Given the description of an element on the screen output the (x, y) to click on. 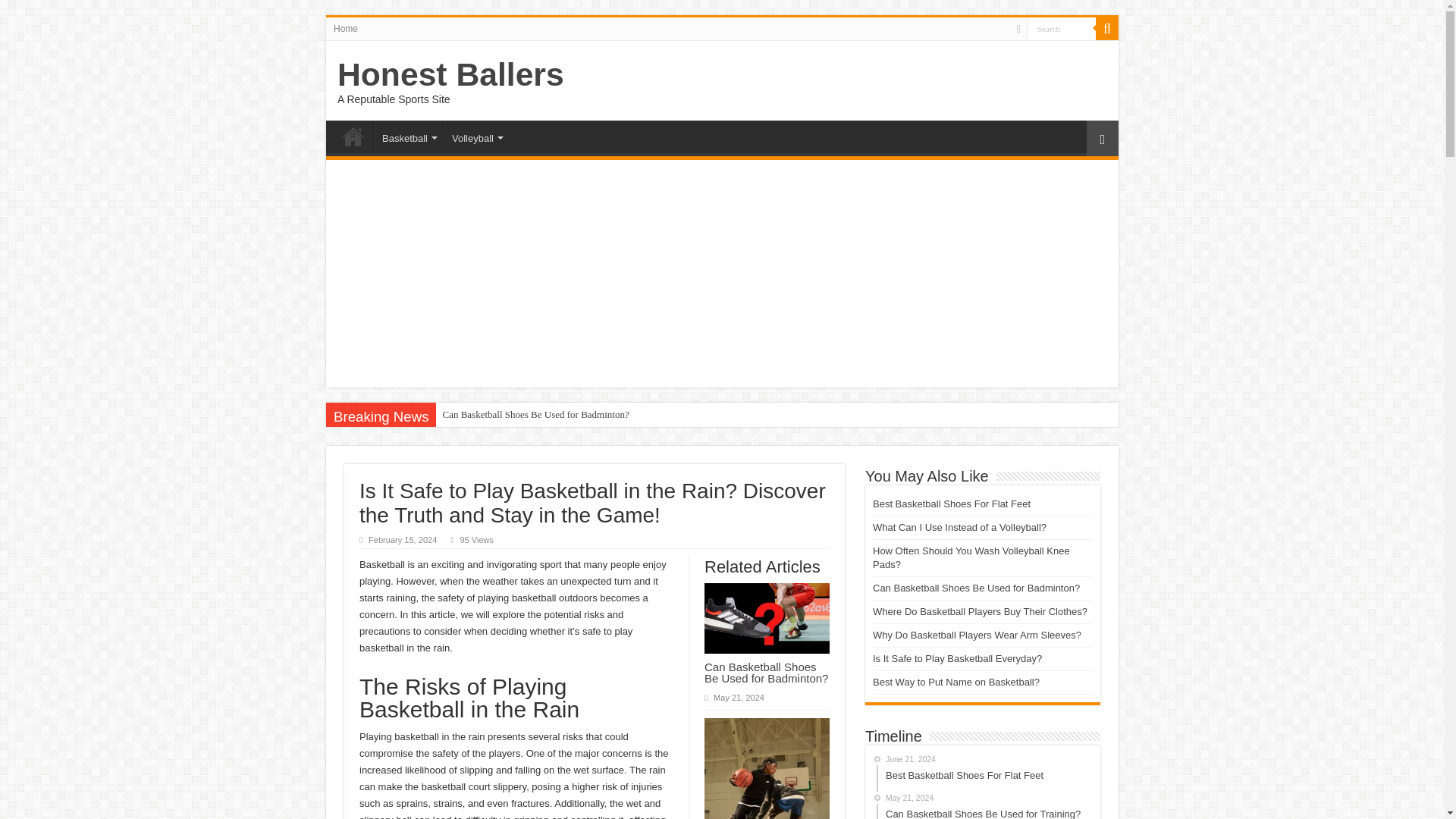
Volleyball (476, 136)
What Can I Use Instead of a Volleyball? (959, 527)
Search (1061, 28)
Home (345, 28)
Search (1061, 28)
Can Basketball Shoes Be Used for Badminton? (766, 672)
Home (352, 136)
Honest Ballers (450, 74)
Can Basketball Shoes Be Used for Badminton? (534, 414)
Search (1107, 28)
Search (1061, 28)
Best Basketball Shoes For Flat Feet (951, 503)
Can Basketball Shoes Be Used for Badminton? (534, 414)
Basketball (408, 136)
